Given the description of an element on the screen output the (x, y) to click on. 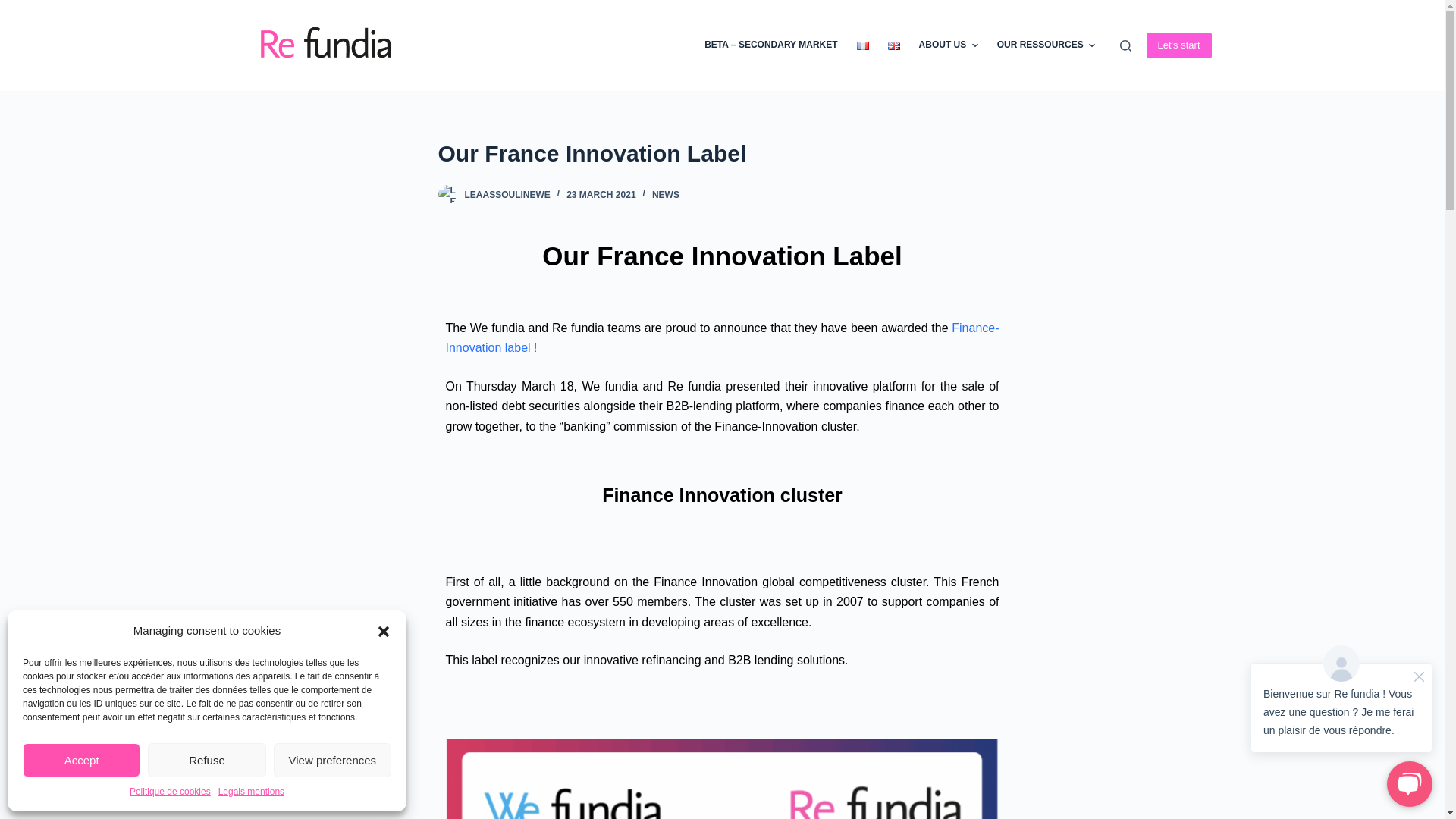
Posts by leaassoulinewe (507, 194)
Legals mentions (250, 792)
Accept (81, 759)
View preferences (332, 759)
Our France Innovation Label (722, 153)
Skip to content (15, 7)
Politique de cookies (170, 792)
Refuse (206, 759)
